Given the description of an element on the screen output the (x, y) to click on. 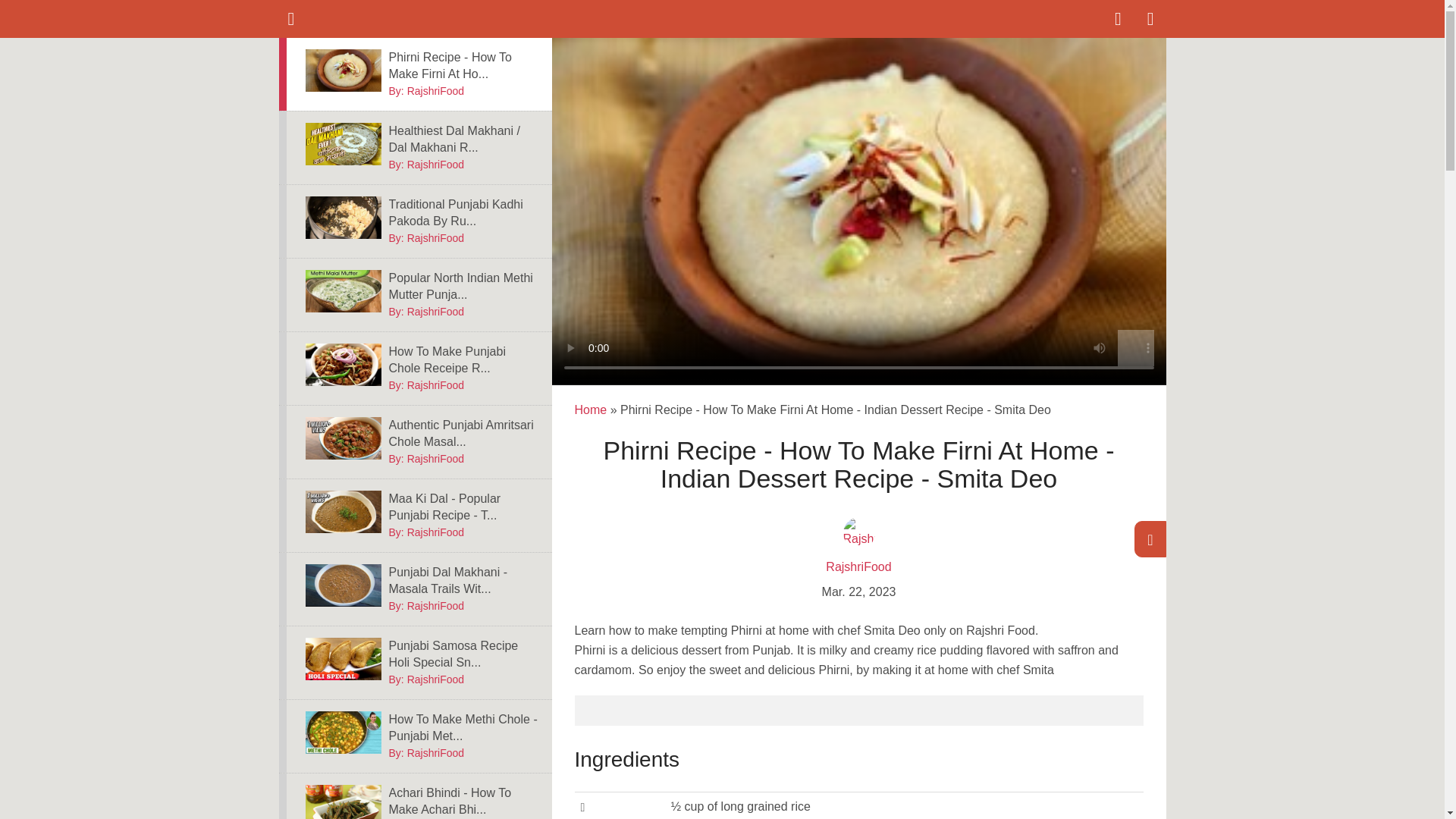
Popular North Indian Methi Mutter Punjabi Recipe By Ruchi (342, 291)
Traditional Punjabi Kadhi Pakoda By Ruchi Bharani (415, 73)
Authentic Punjabi Amritsari Chole Masala Recipe Vaun Inamdar (464, 213)
Popular North Indian Methi Mutter Punjabi Recipe By Ruchi (464, 433)
Return to the ifood.tv home page (464, 286)
Authentic Punjabi Amritsari Chole Masala Recipe Vaun Inamdar (377, 19)
Traditional Punjabi Kadhi Pakoda By Ruchi Bharani (342, 437)
How To Make Punjabi Chole Receipe Ruchi Bharani (342, 217)
How To Make Punjabi Chole Receipe Ruchi Bharani (342, 364)
